Given the description of an element on the screen output the (x, y) to click on. 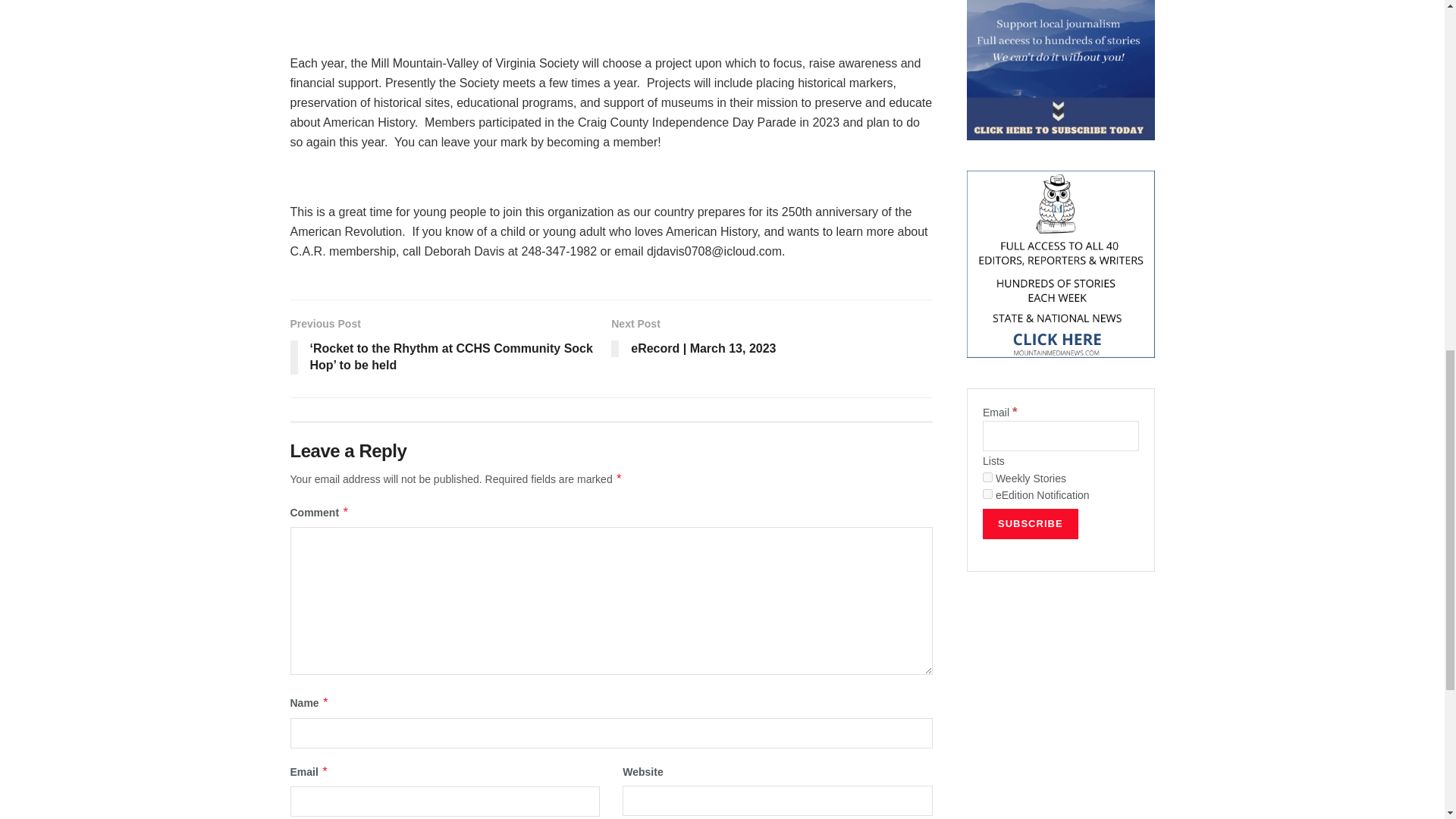
2 (987, 493)
Subscribe (1030, 523)
1 (987, 477)
